Given the description of an element on the screen output the (x, y) to click on. 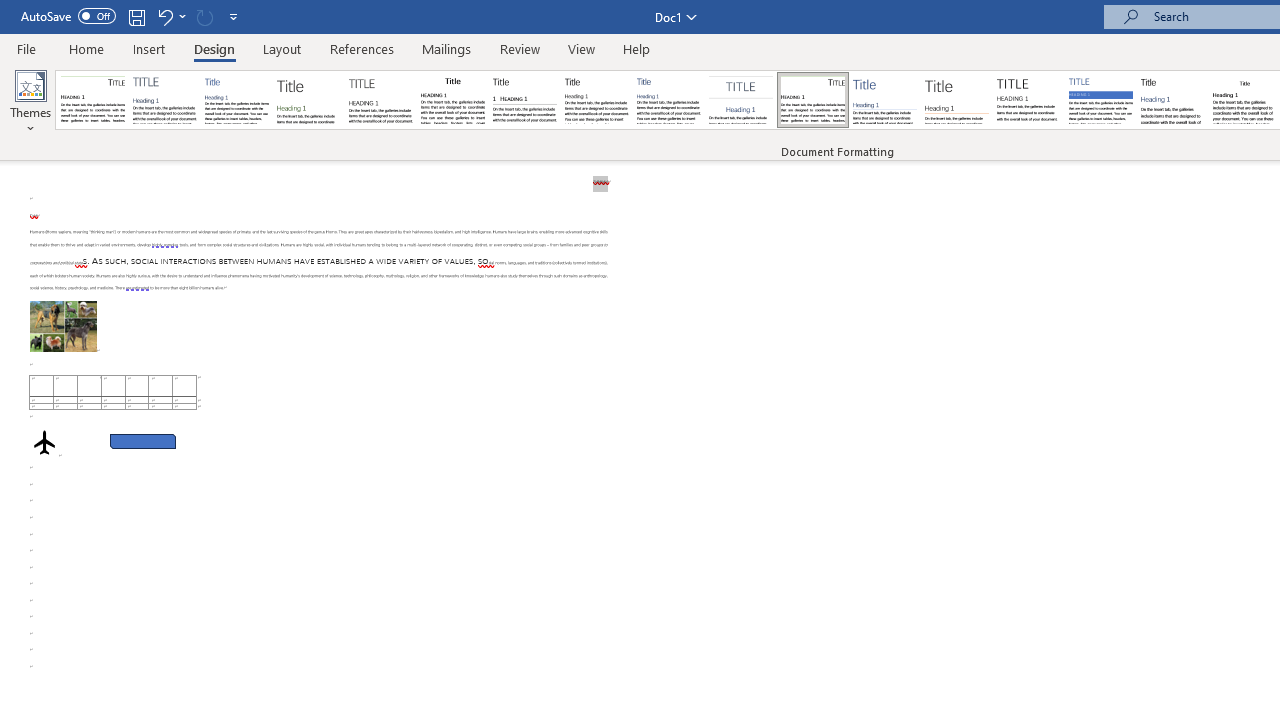
Lines (Stylish) (957, 100)
Lines (Distinctive) (812, 100)
Word (1172, 100)
Can't Repeat (204, 15)
Undo Apply Quick Style Set (164, 15)
Basic (Simple) (236, 100)
Undo Apply Quick Style Set (170, 15)
Basic (Elegant) (164, 100)
